Given the description of an element on the screen output the (x, y) to click on. 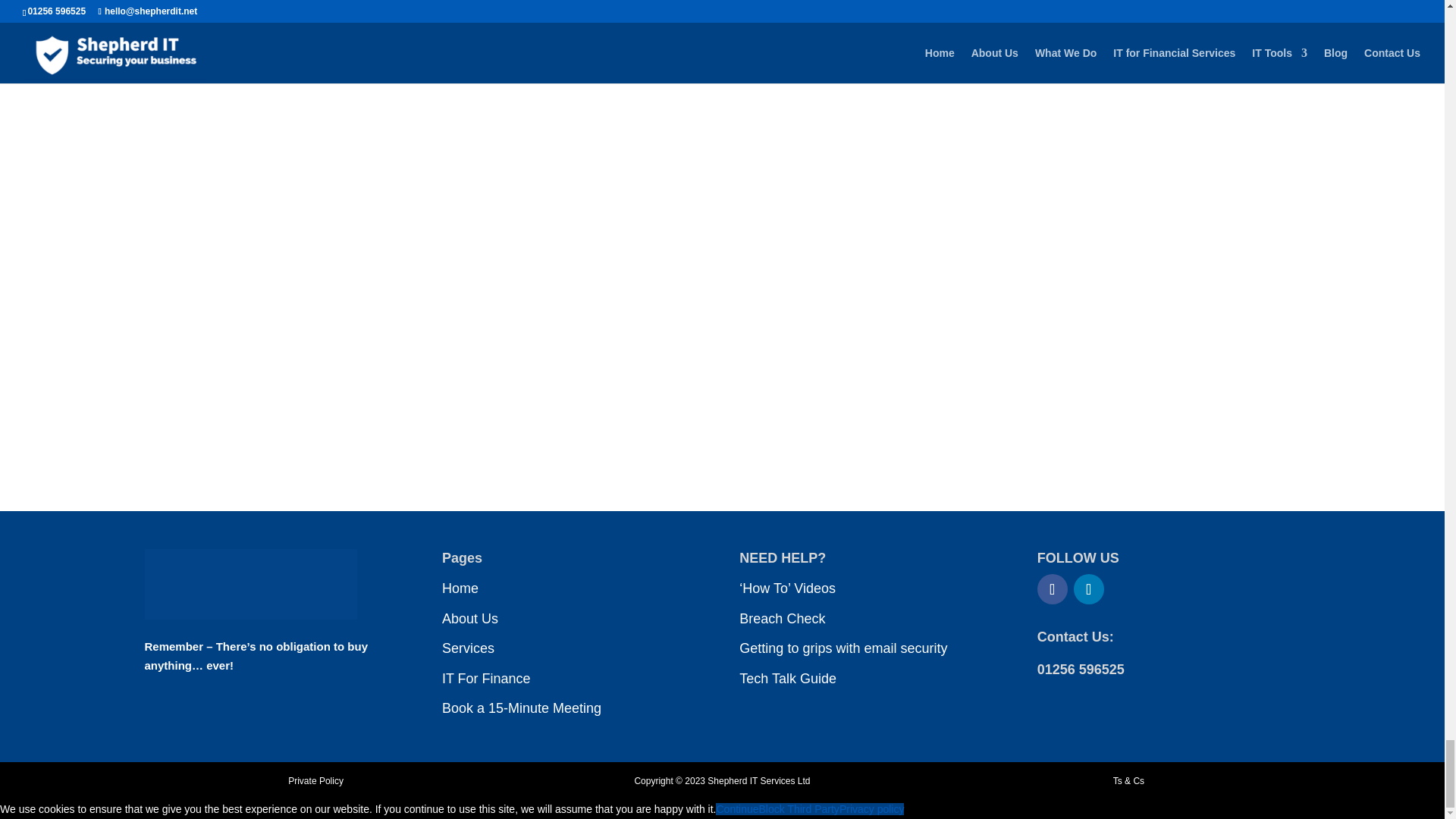
Home (460, 588)
Book a 15-Minute Meeting (521, 708)
About Us (469, 617)
Follow on Facebook (1051, 589)
Shepherd IT Services Logo (250, 583)
IT For Finance (486, 678)
Follow on LinkedIn (1088, 589)
Services (468, 648)
